Given the description of an element on the screen output the (x, y) to click on. 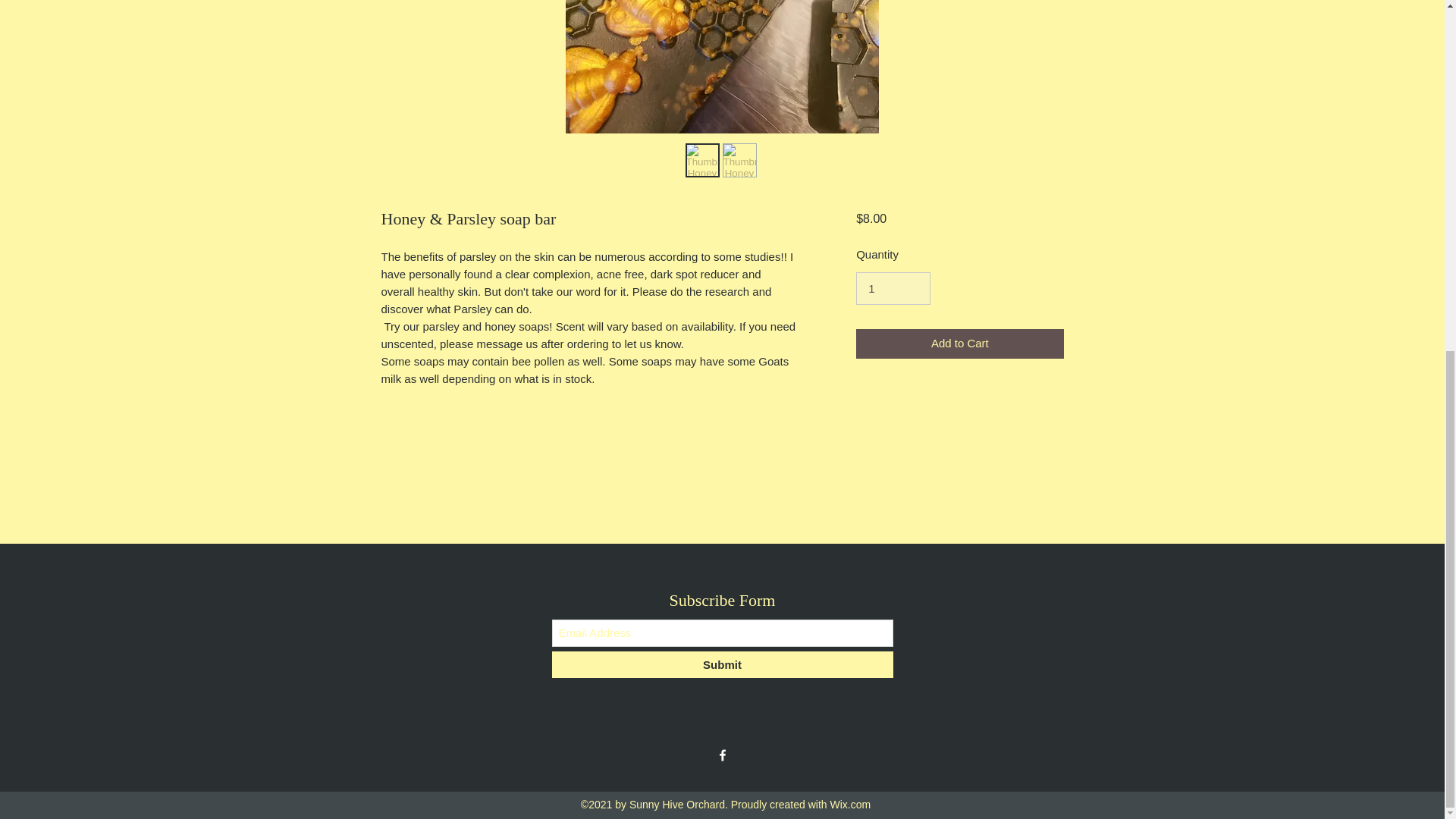
Submit (722, 664)
1 (893, 288)
Add to Cart (959, 343)
